Given the description of an element on the screen output the (x, y) to click on. 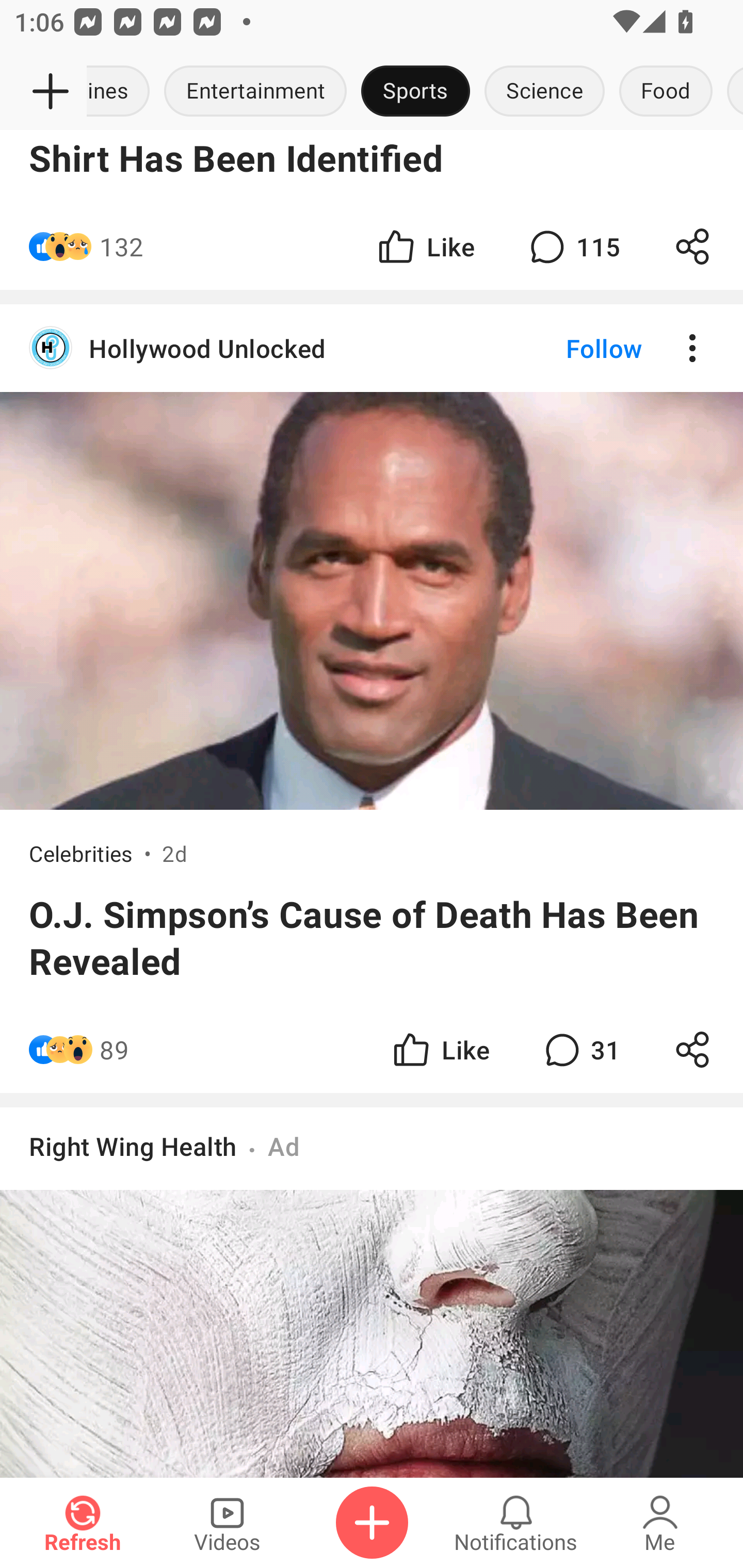
Headlines (121, 91)
Entertainment (254, 91)
Sports (415, 91)
Science (544, 91)
Food (665, 91)
132 (121, 246)
Like (425, 246)
115 (572, 246)
Follow (569, 348)
89 (114, 1049)
Like (439, 1049)
31 (579, 1049)
Right Wing Health (132, 1145)
Videos (227, 1522)
Notifications (516, 1522)
Me (659, 1522)
